Given the description of an element on the screen output the (x, y) to click on. 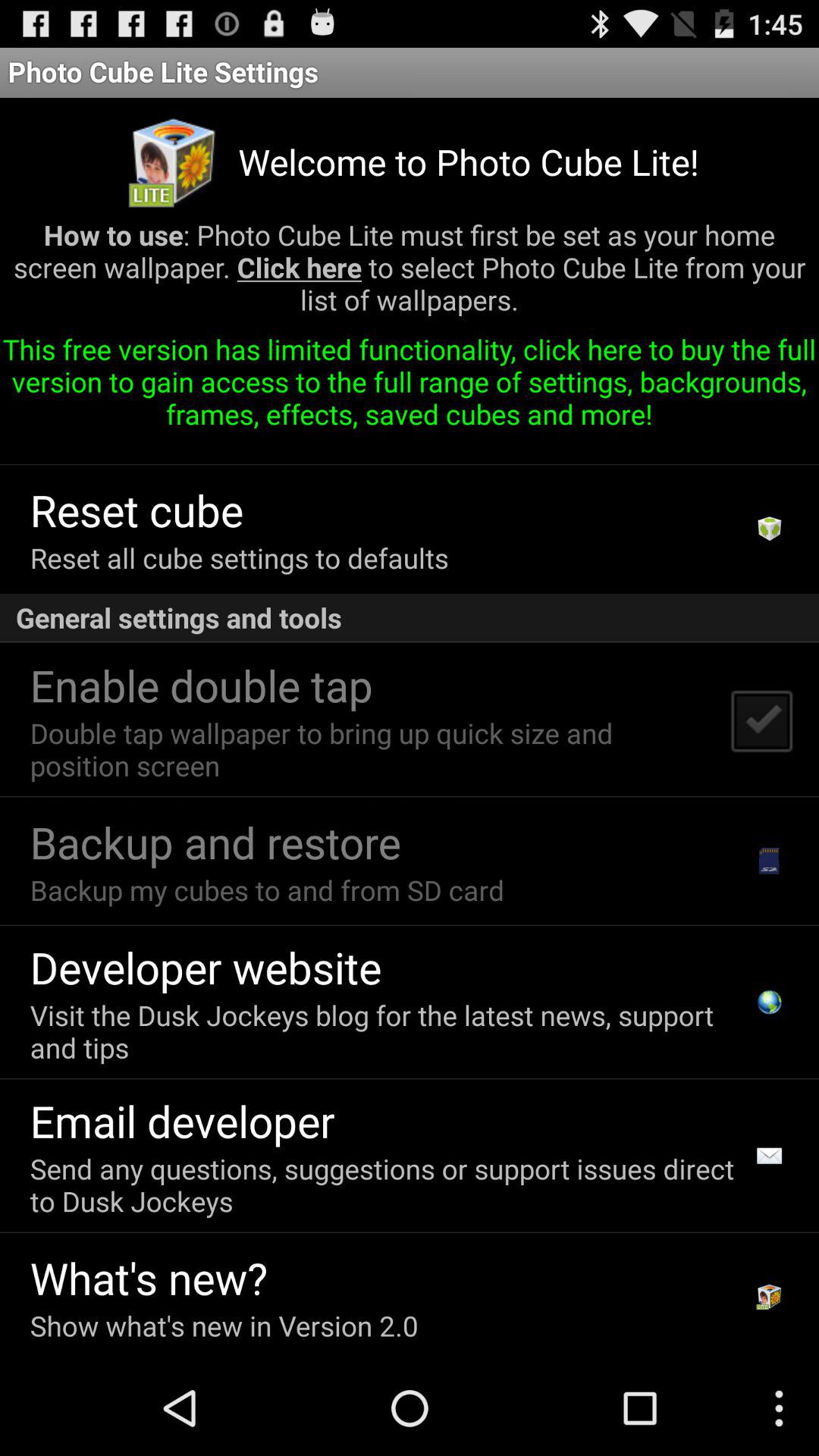
choose app above the send this cube app (409, 387)
